Given the description of an element on the screen output the (x, y) to click on. 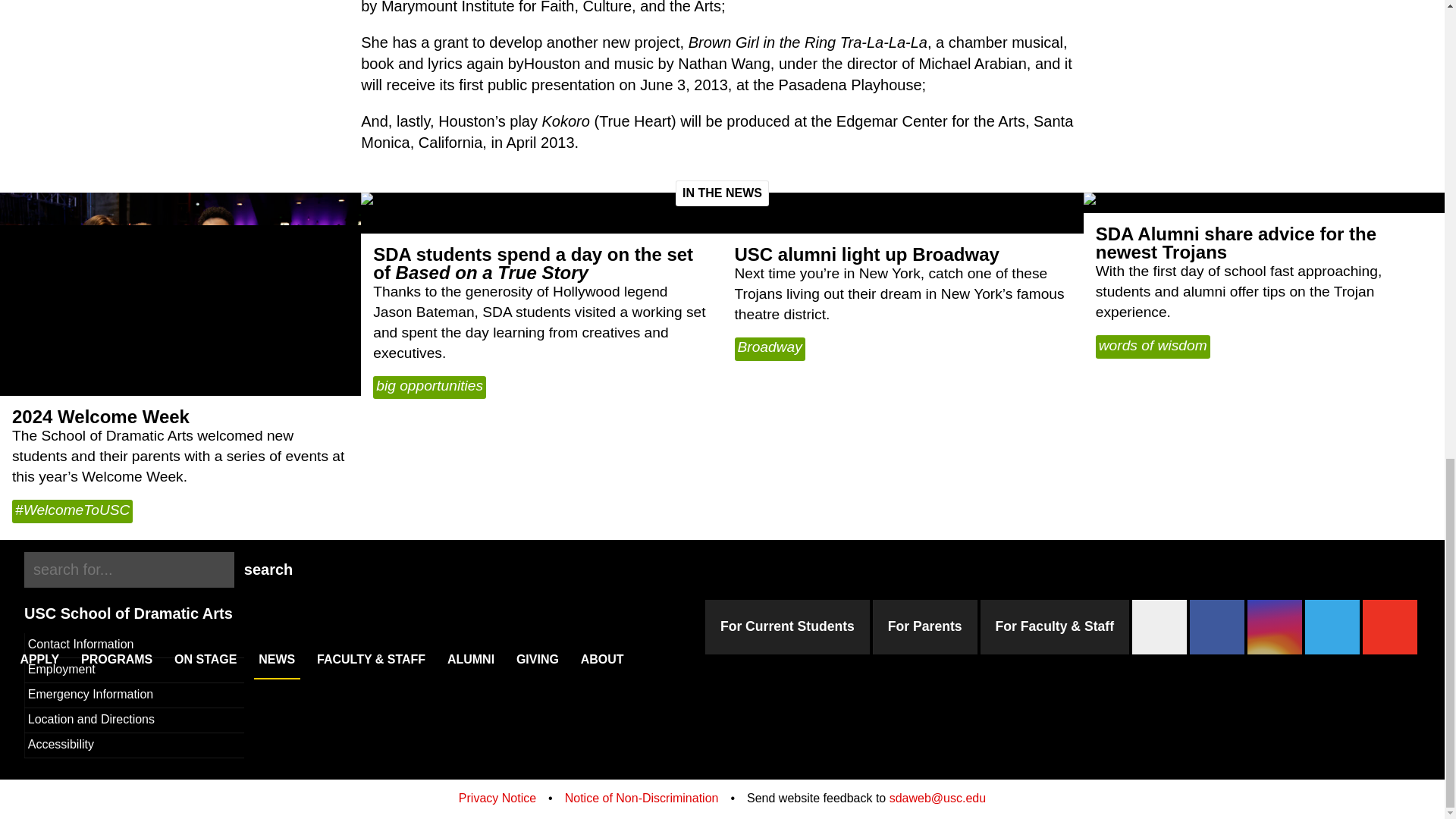
Accessibility (134, 745)
Facebook (1216, 626)
APPLY (39, 656)
Twitter (1331, 626)
YouTube (1389, 626)
For Parents (924, 626)
Location and Directions (134, 720)
NEWS (276, 656)
Instagram (1274, 626)
Emergency Information (134, 695)
